Given the description of an element on the screen output the (x, y) to click on. 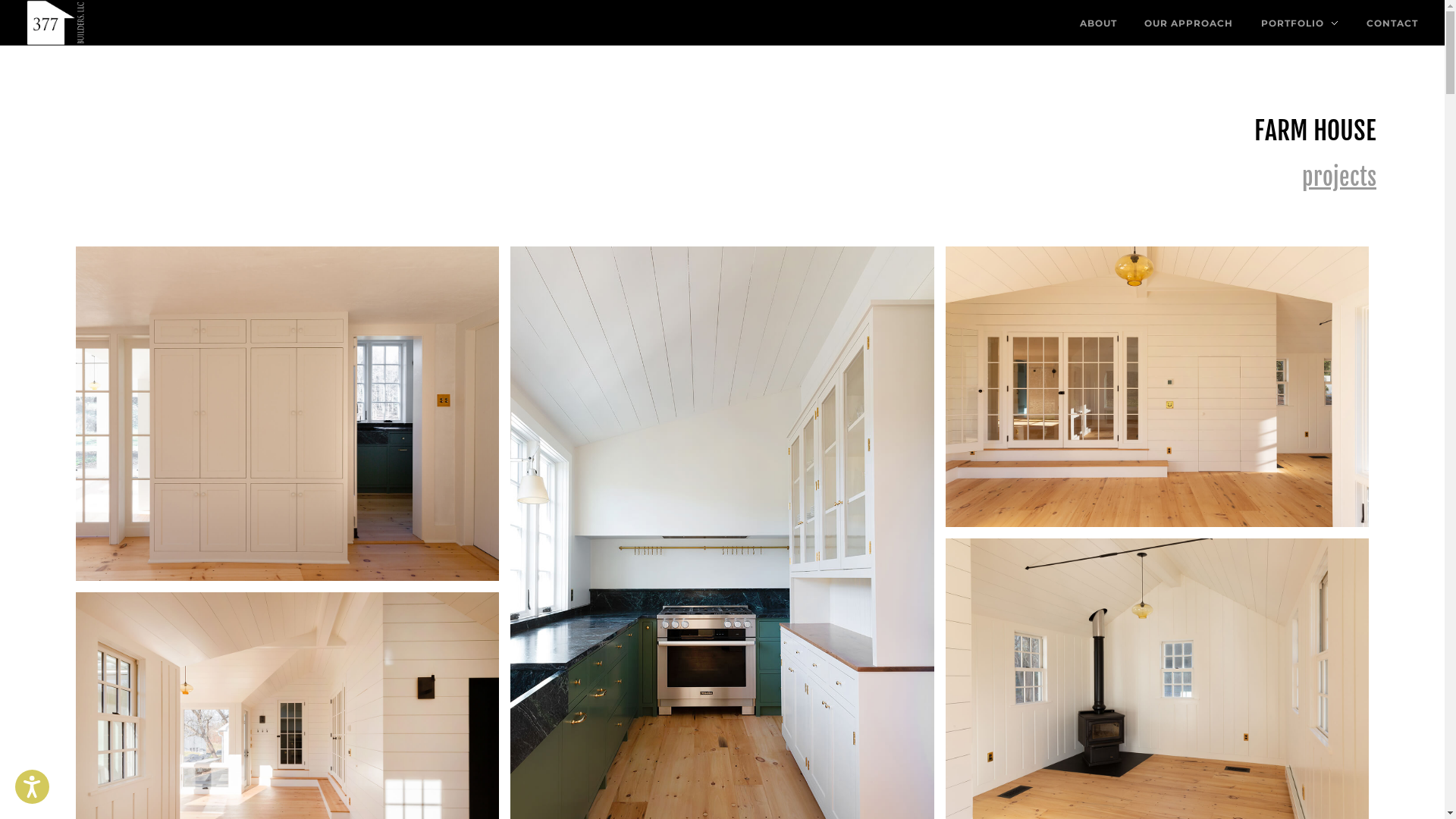
projects Element type: text (1339, 177)
PORTFOLIO Element type: text (1299, 22)
CONTACT Element type: text (1385, 22)
lisa_vollmer_photography-1181 Element type: hover (1156, 386)
OUR APPROACH Element type: text (1188, 22)
lisa_vollmer_photography-1152 Element type: hover (286, 413)
ABOUT Element type: text (1104, 22)
